Given the description of an element on the screen output the (x, y) to click on. 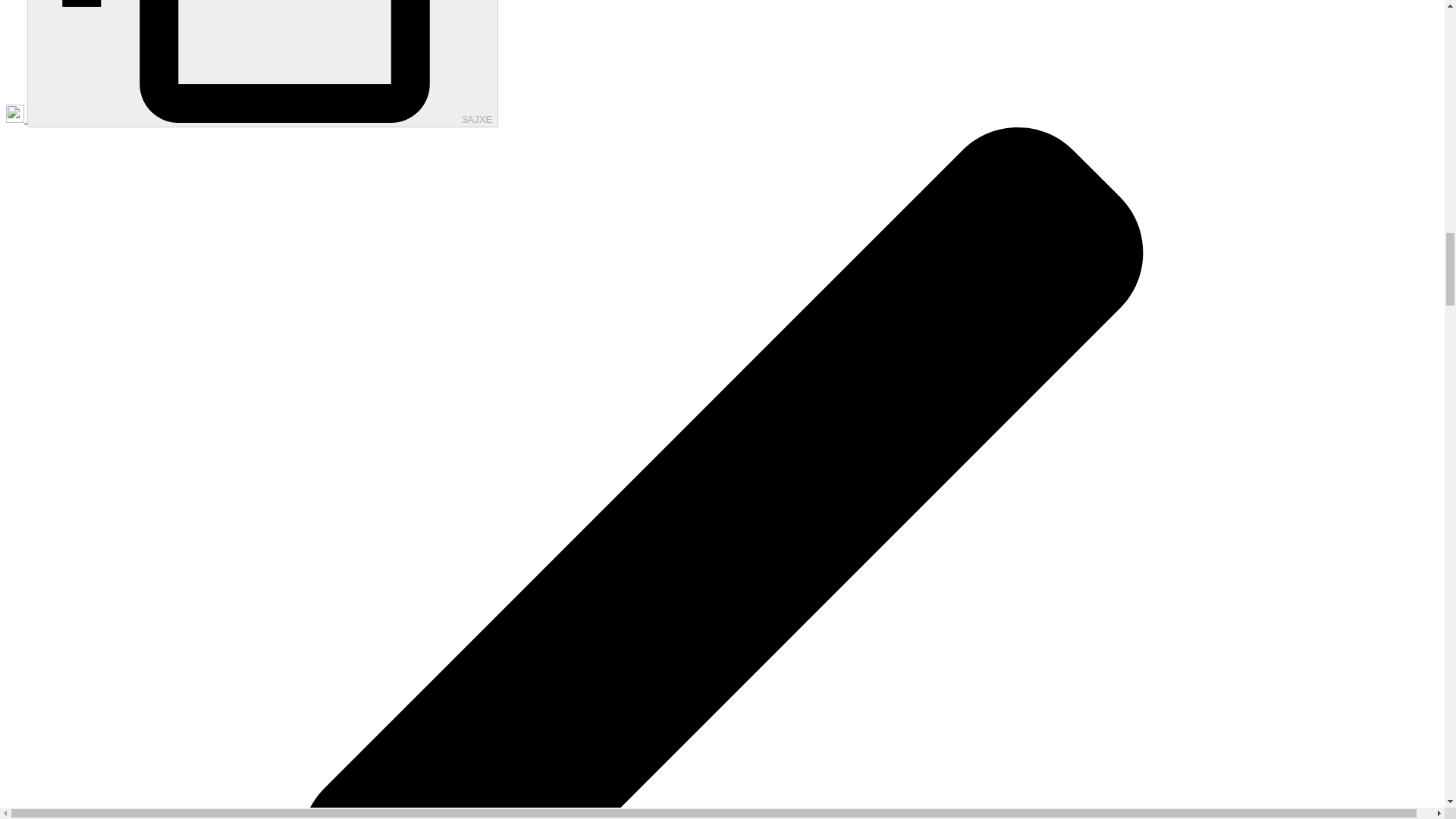
3AJXE (262, 63)
